Given the description of an element on the screen output the (x, y) to click on. 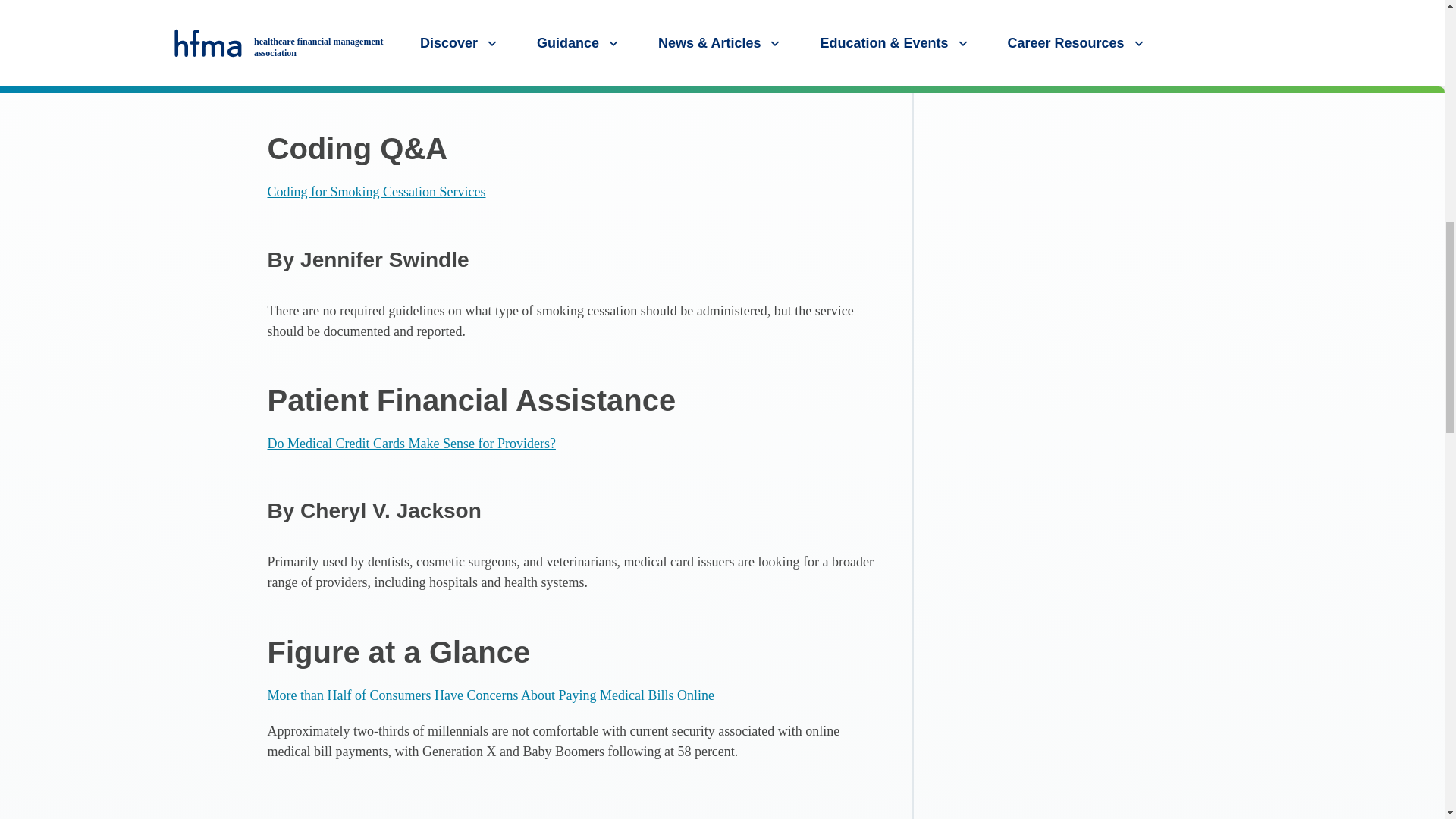
Do Medical Credit Cards Make Sense for Providers? (410, 443)
Coding for Smoking Cessation Services (375, 191)
